Given the description of an element on the screen output the (x, y) to click on. 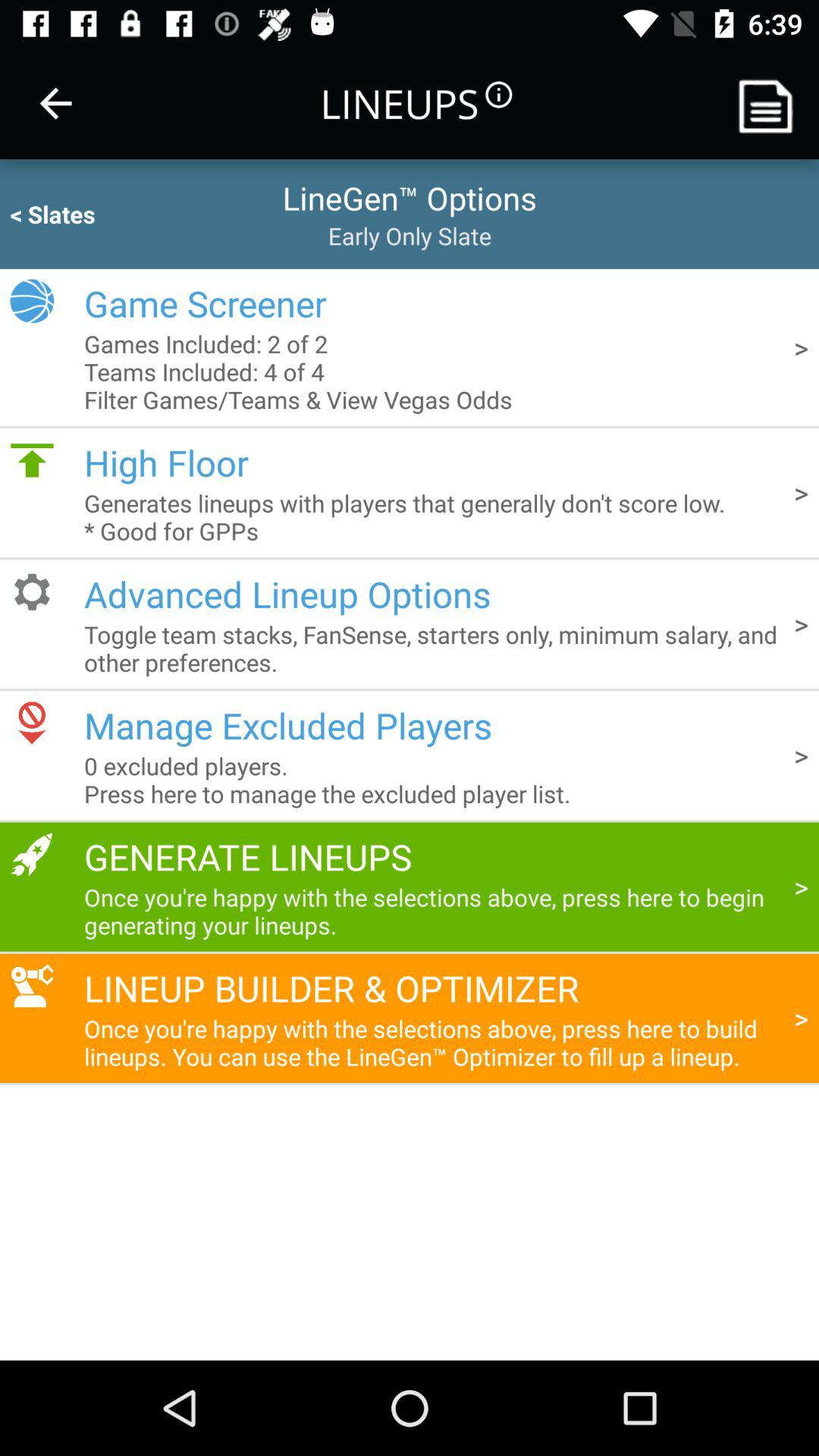
flip until the < slates icon (81, 214)
